Given the description of an element on the screen output the (x, y) to click on. 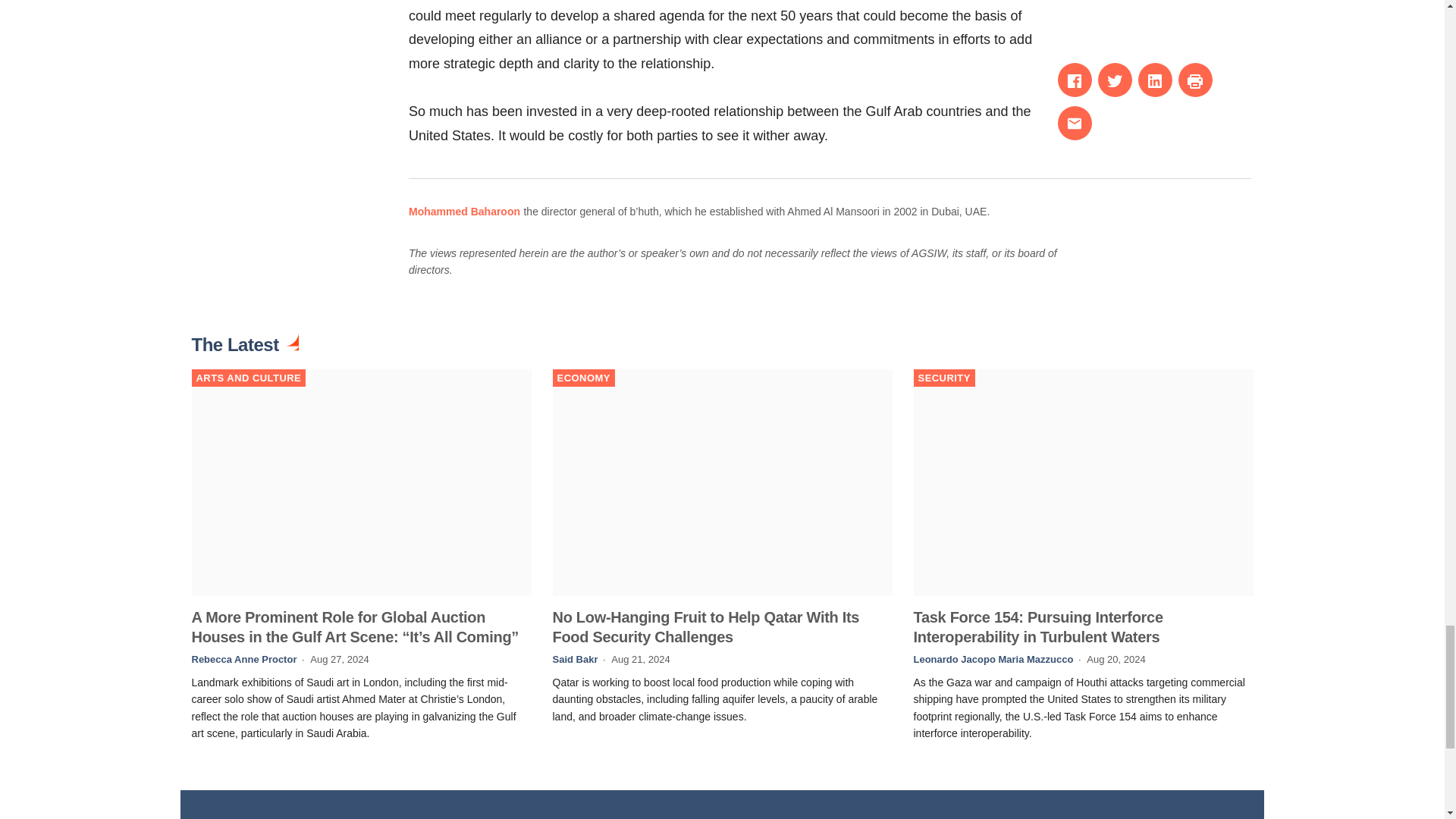
Click to share on Facebook (1075, 80)
Click to share on LinkedIn (1155, 80)
Click to share on Twitter (1114, 80)
